Given the description of an element on the screen output the (x, y) to click on. 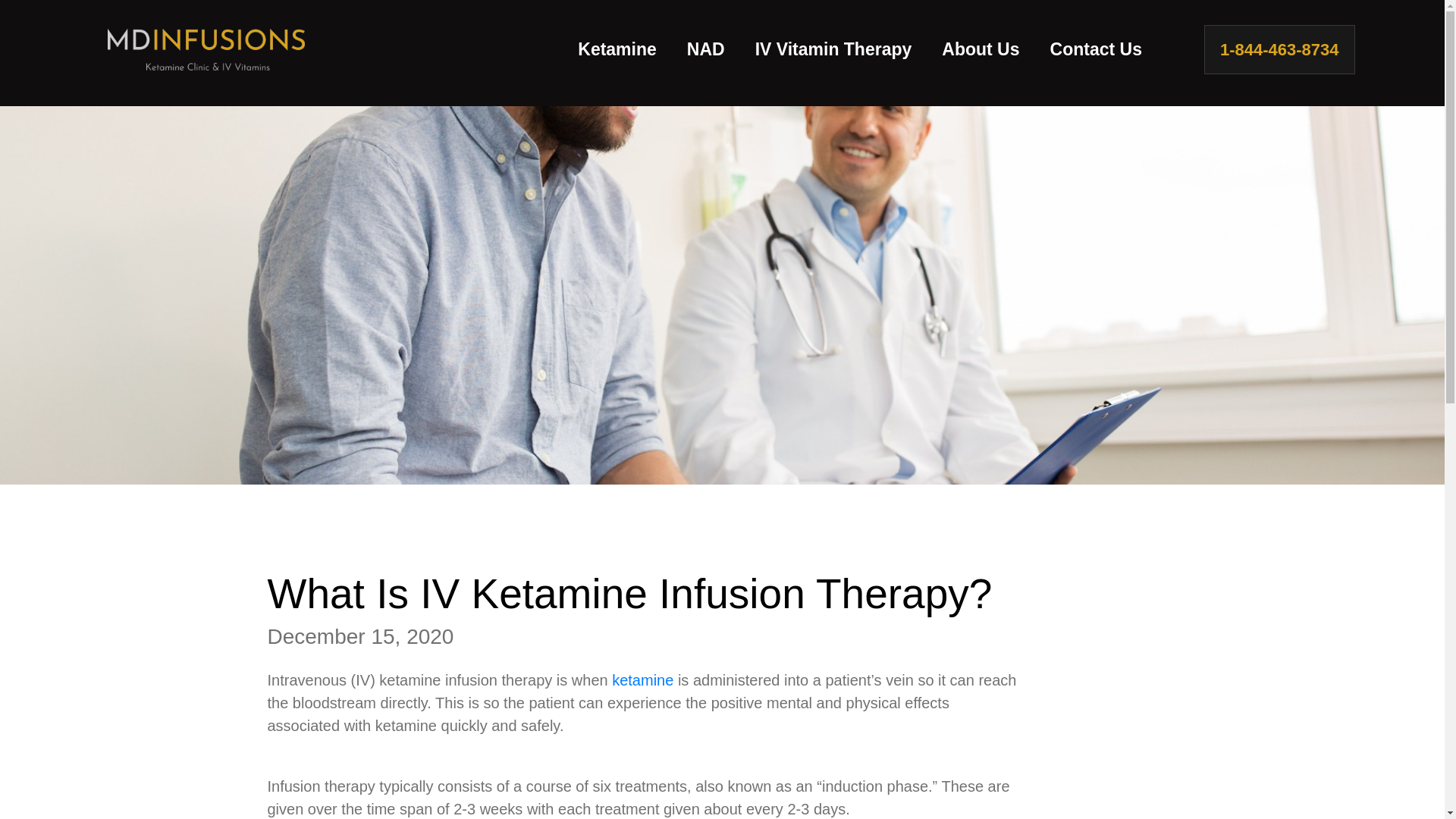
NAD (705, 49)
1-844-463-8734 (1279, 49)
ketamine (641, 679)
Ketamine (616, 49)
IV Vitamin Therapy (833, 49)
About Us (979, 49)
Contact Us (1096, 49)
